Given the description of an element on the screen output the (x, y) to click on. 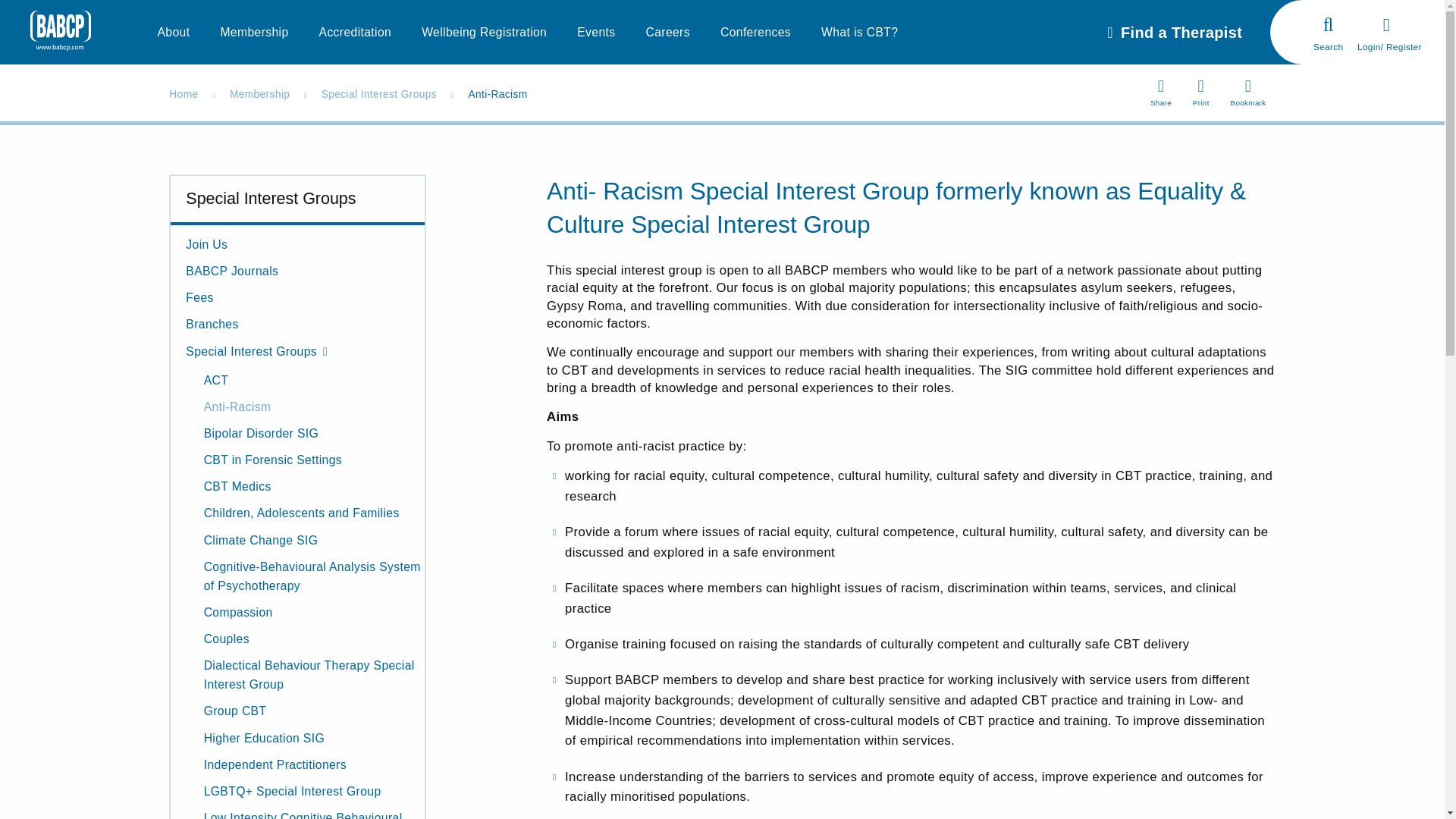
Accreditation (354, 31)
Membership (253, 31)
Conferences (755, 31)
What is CBT? (859, 31)
About (173, 31)
Events (595, 31)
Wellbeing Registration (484, 31)
Careers (666, 31)
